Given the description of an element on the screen output the (x, y) to click on. 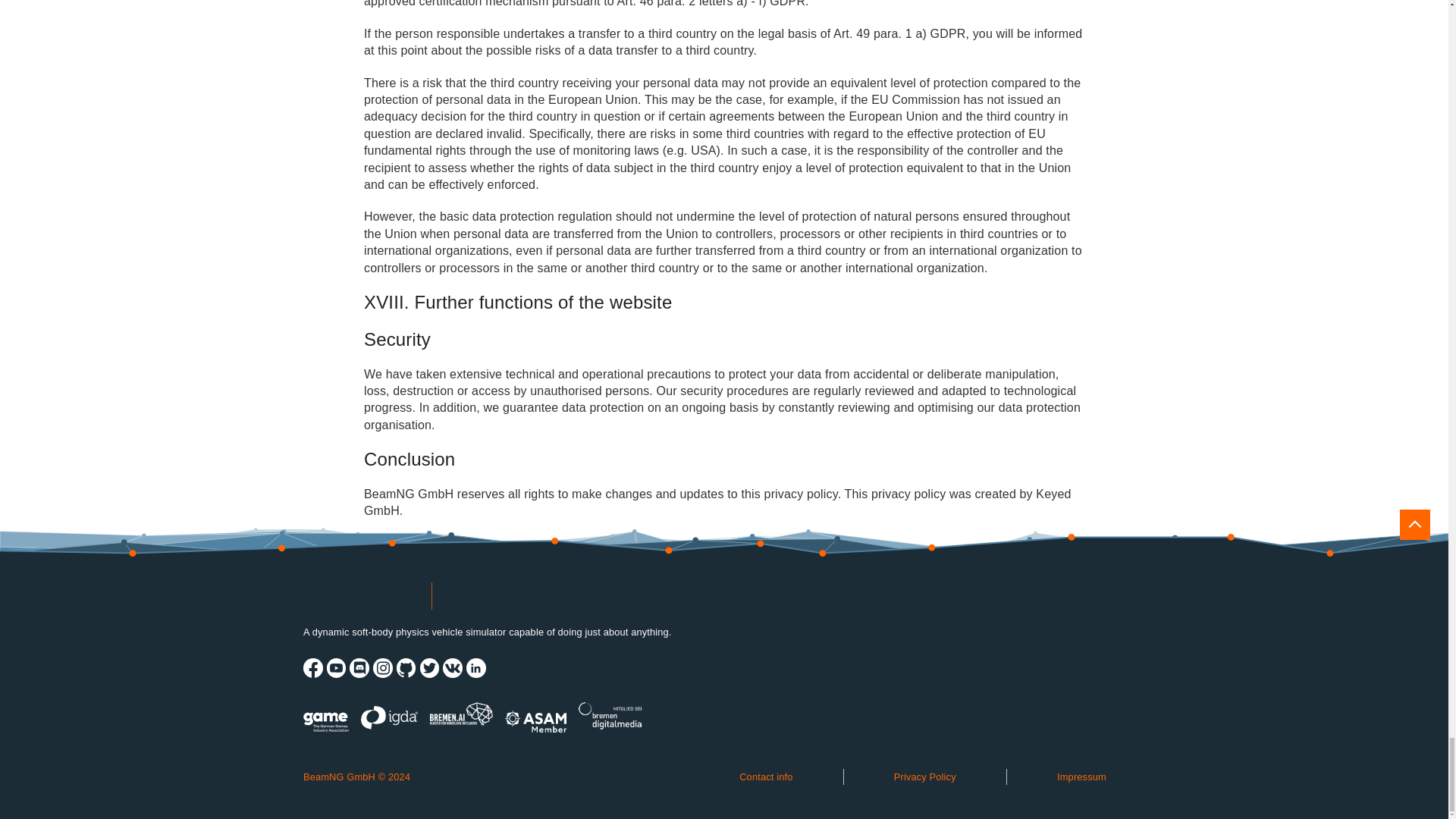
bremen digitalmedia (610, 716)
Facebook (312, 668)
BeamNG.tech (499, 595)
GitHub (406, 668)
BeamNG.drive (360, 595)
Twitter (429, 668)
LinkedIn (475, 668)
VK (452, 668)
YouTube (336, 668)
Instagram (382, 668)
German Games Industry Association (325, 716)
International Game Developers Association (389, 716)
Discord (359, 668)
